Given the description of an element on the screen output the (x, y) to click on. 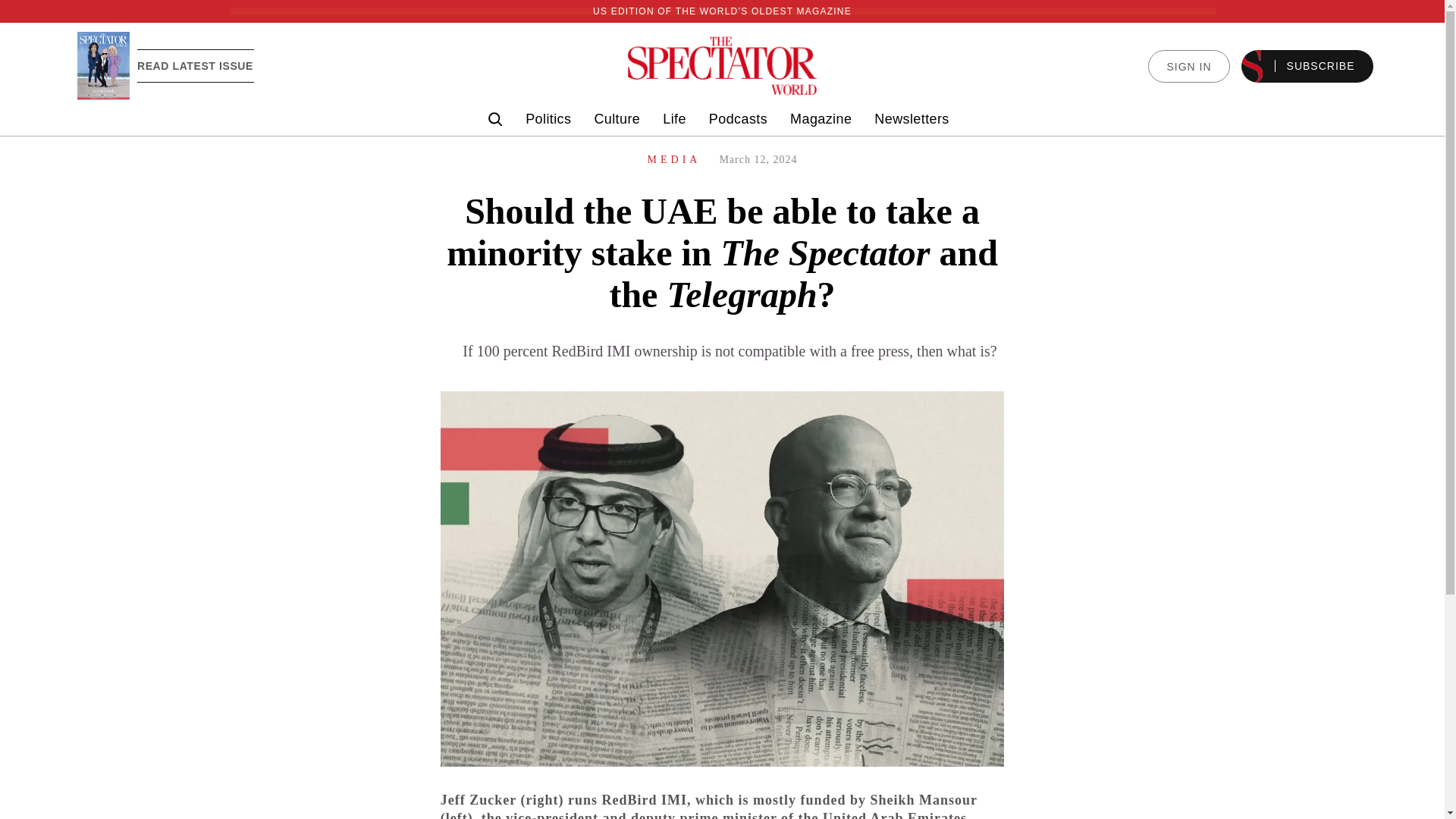
READ LATEST ISSUE (194, 65)
Podcasts (737, 119)
SIGN IN (1188, 65)
SUBSCRIBE (1307, 65)
Politics (547, 119)
Culture (616, 119)
Life (673, 119)
MEDIA (674, 159)
Newsletters (911, 119)
Magazine (820, 119)
